Given the description of an element on the screen output the (x, y) to click on. 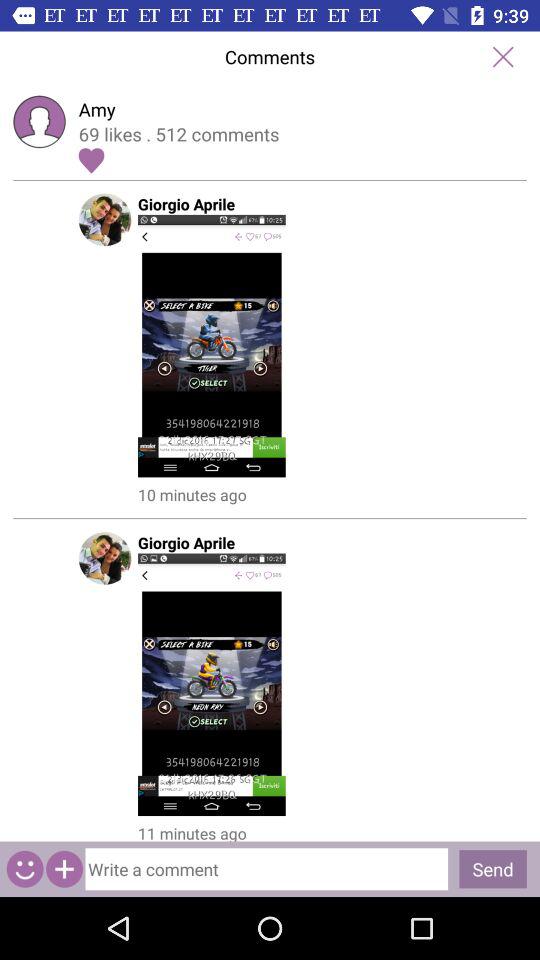
view post (269, 345)
